Given the description of an element on the screen output the (x, y) to click on. 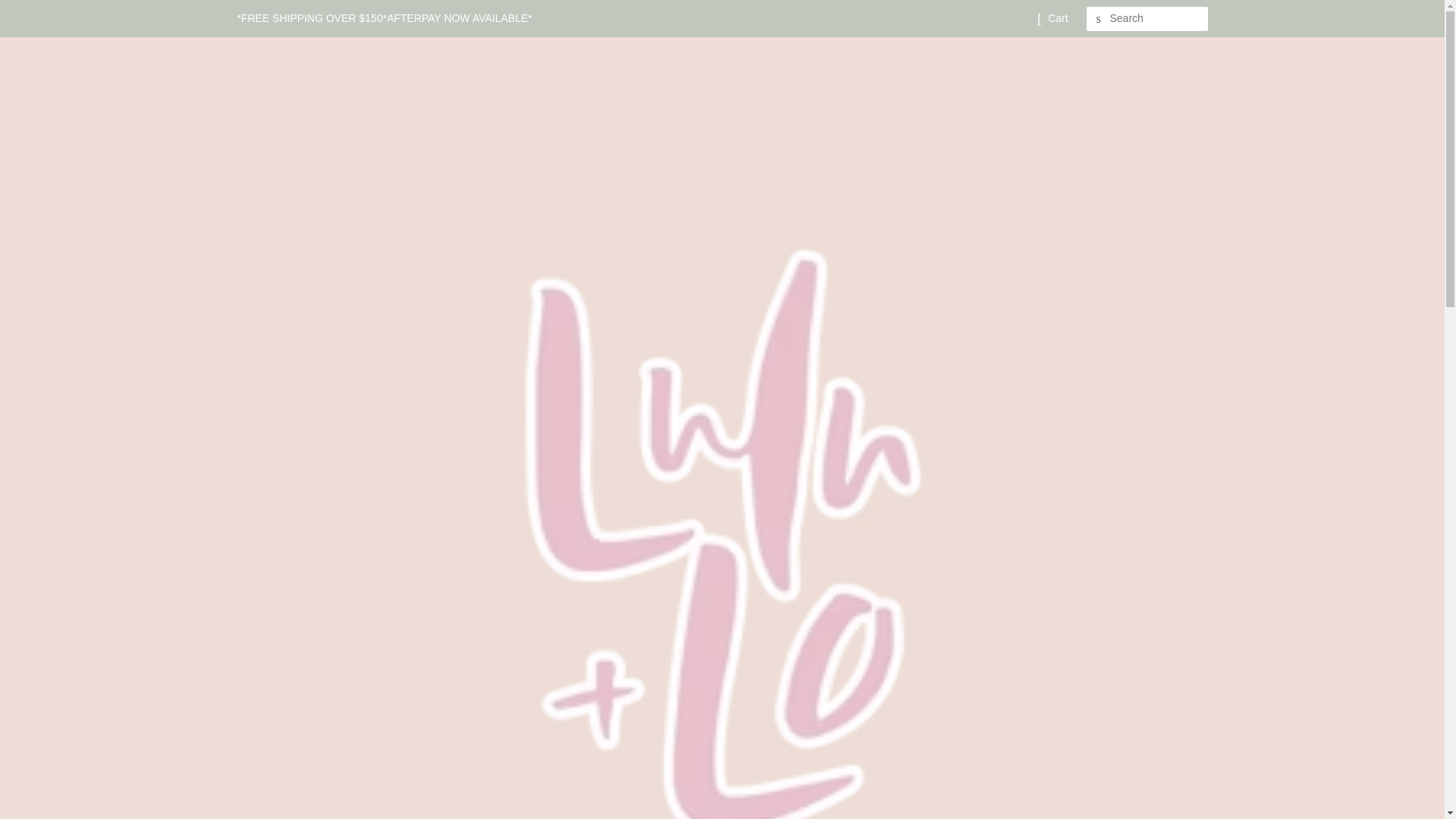
Search (1097, 18)
Cart (1057, 18)
